Given the description of an element on the screen output the (x, y) to click on. 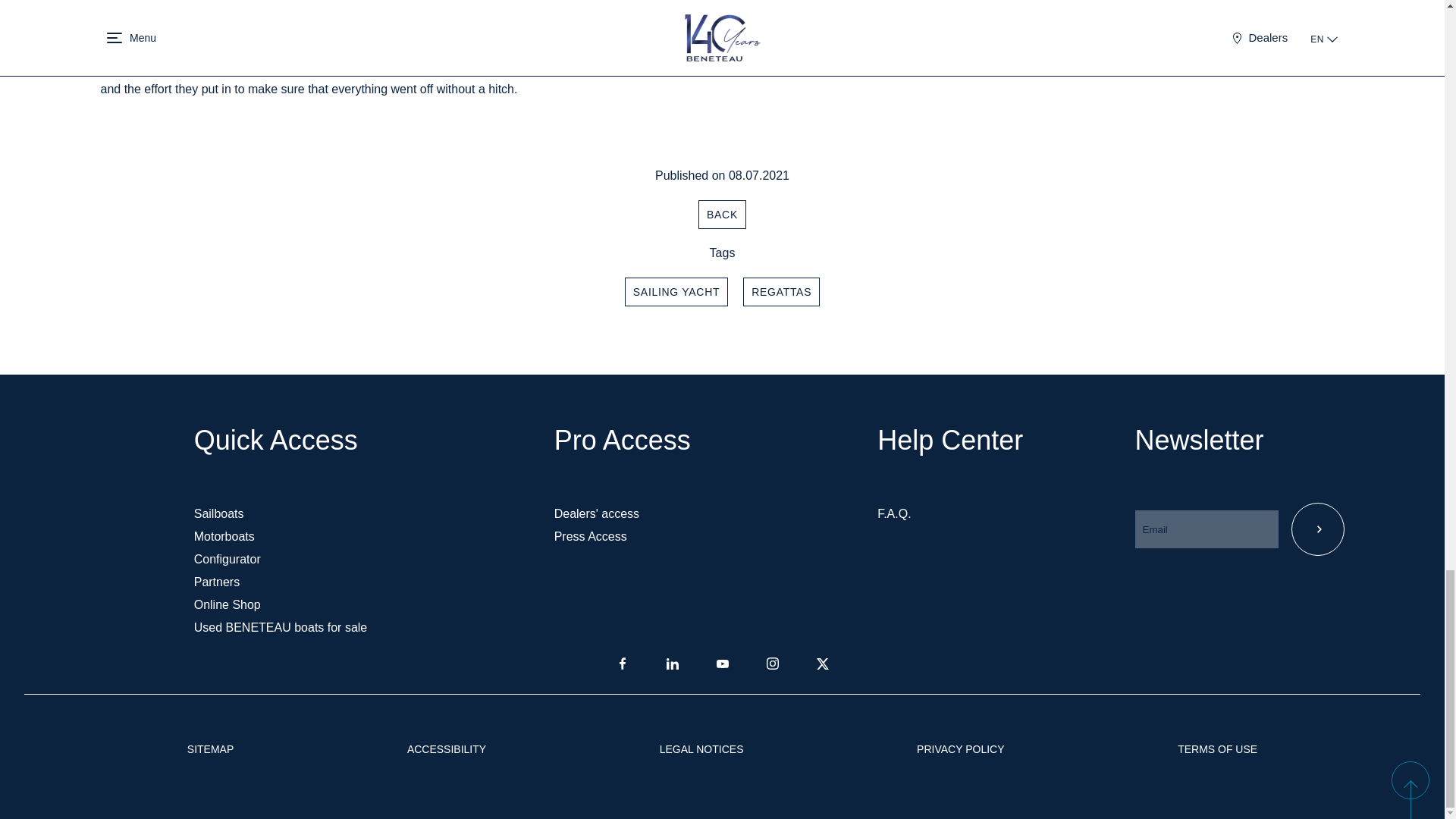
Send (1316, 529)
